Given the description of an element on the screen output the (x, y) to click on. 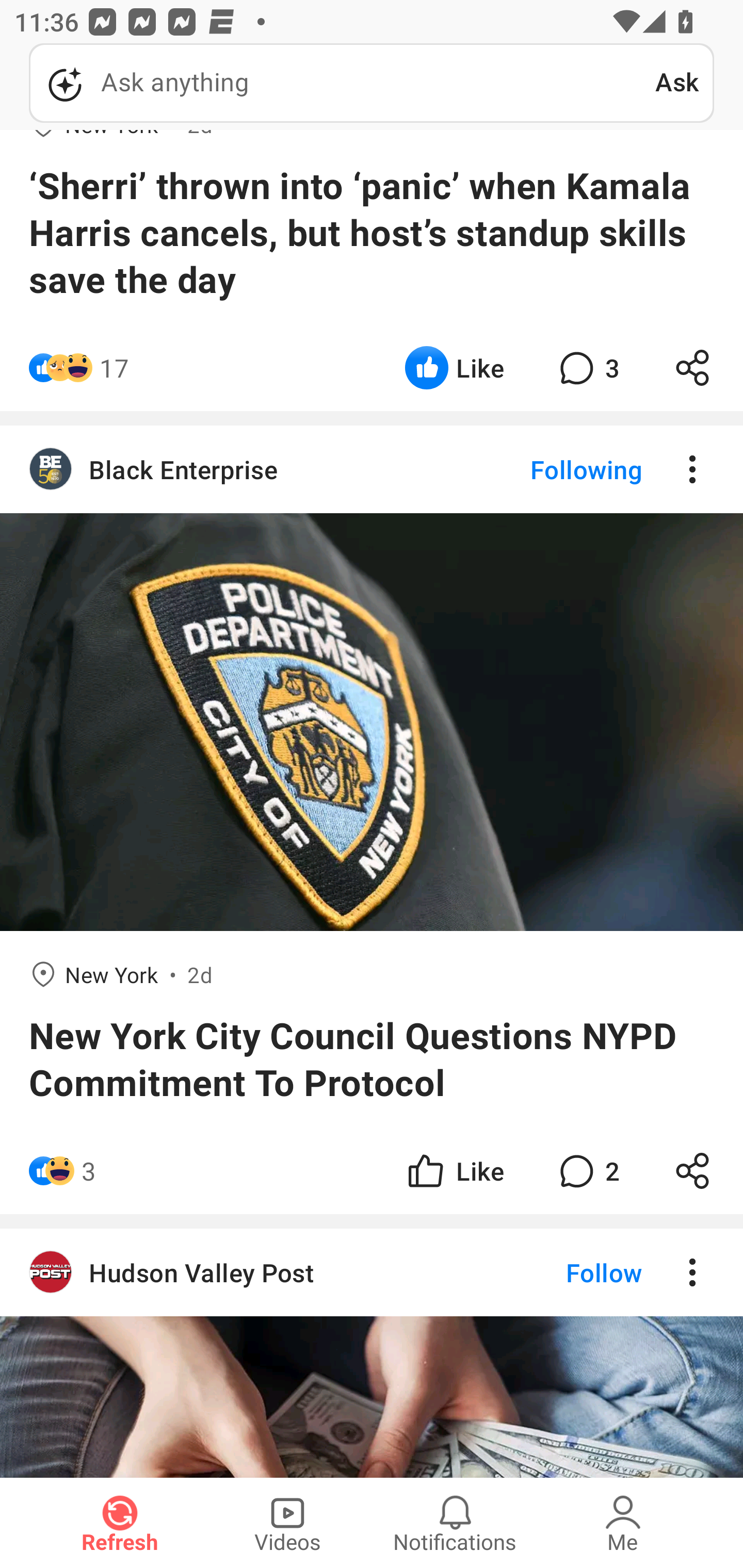
Ask anything (341, 82)
17 (114, 367)
Like (454, 367)
3 (587, 367)
Black Enterprise Following (371, 468)
Following (569, 468)
3 (88, 1170)
Like (454, 1170)
2 (587, 1170)
Hudson Valley Post Follow (371, 1272)
Follow (569, 1272)
Videos (287, 1522)
Notifications (455, 1522)
Me (622, 1522)
